Given the description of an element on the screen output the (x, y) to click on. 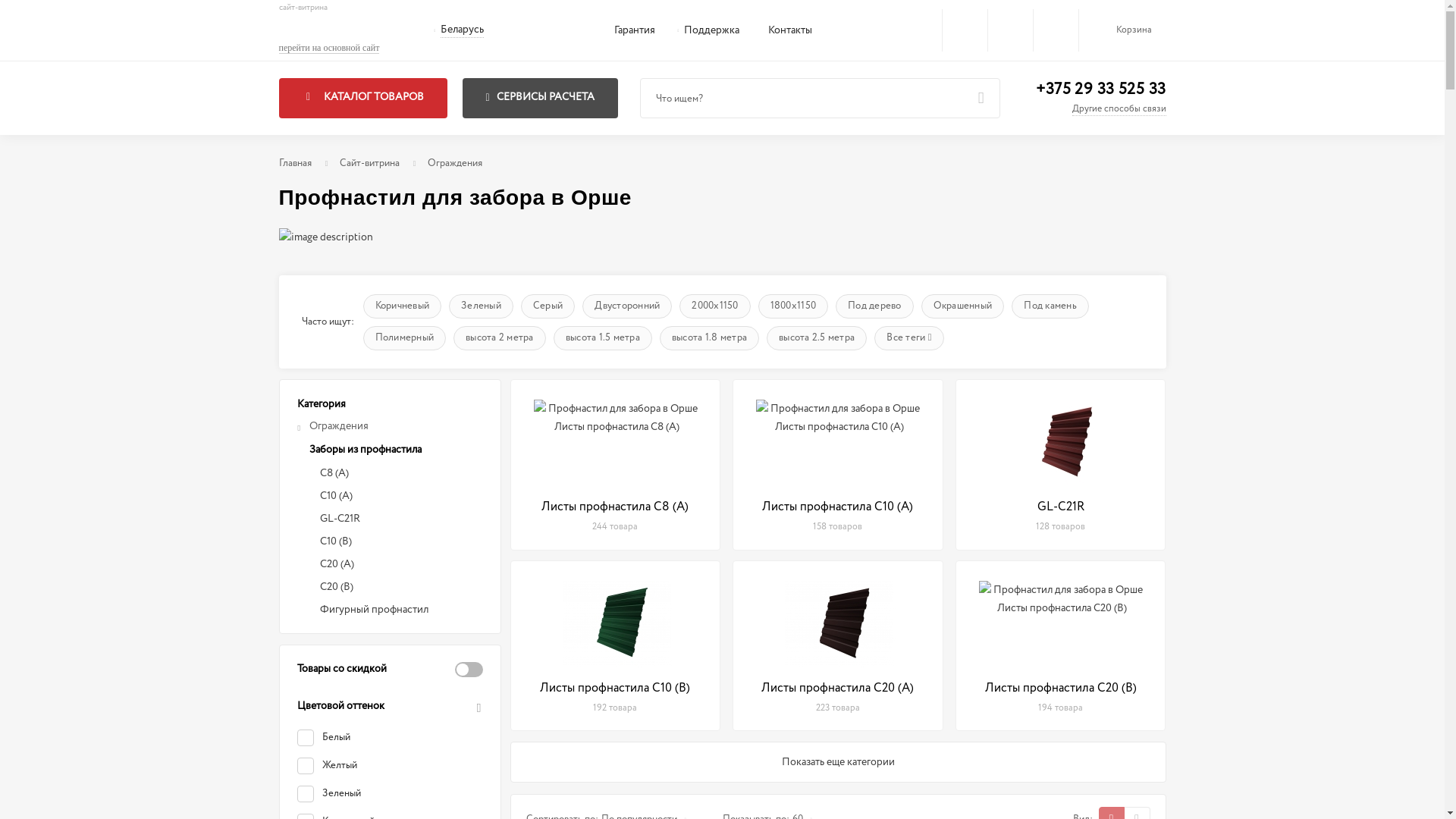
+375 29 33 525 33 Element type: text (1100, 89)
